Given the description of an element on the screen output the (x, y) to click on. 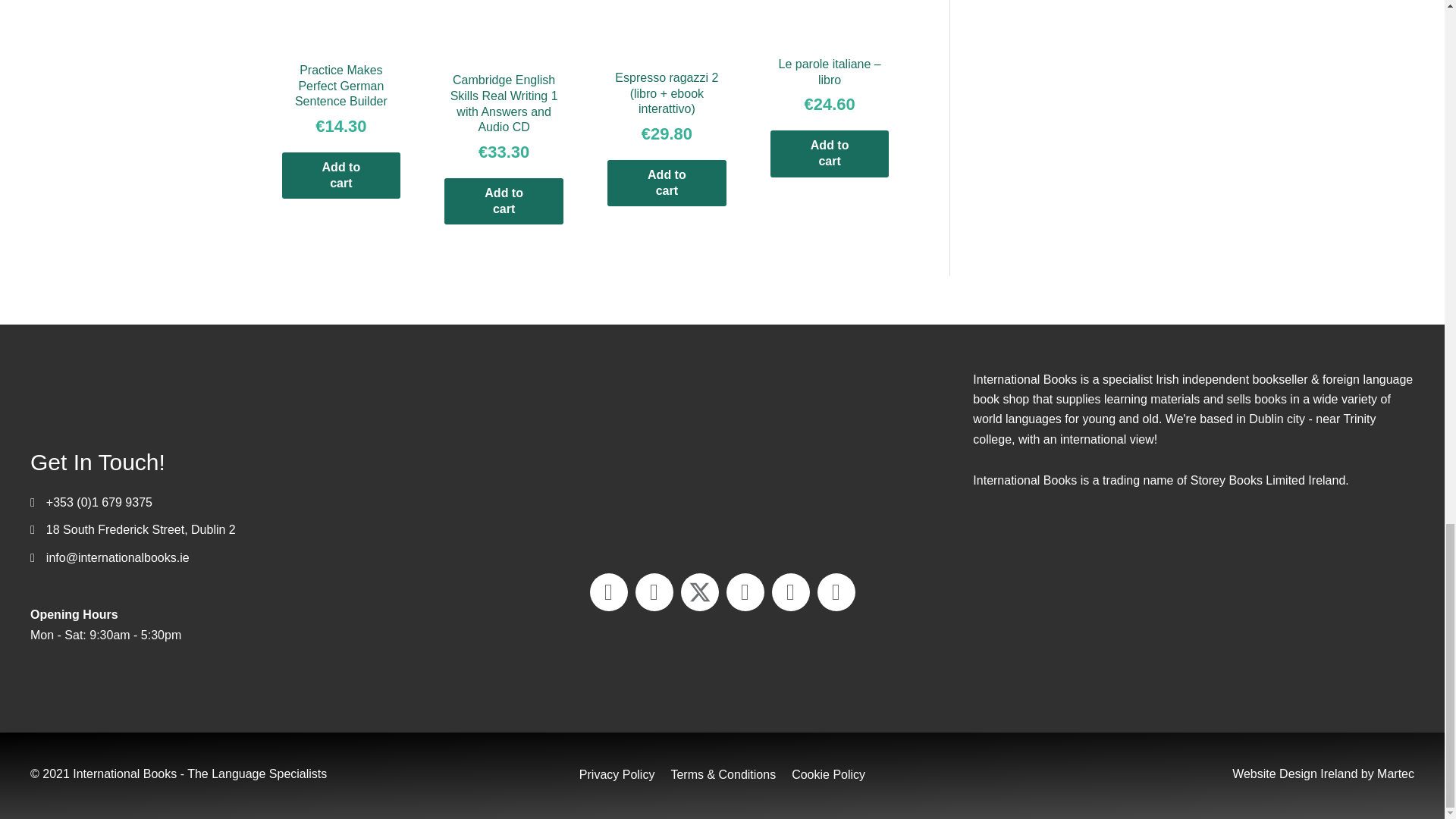
logo-white (181, 393)
logo-leo (1193, 614)
Facebook (653, 591)
Website Design Galway (1293, 773)
Instagram (790, 591)
logo-stripe-secure-payments-1 (722, 456)
Email (608, 591)
TikTok (836, 591)
